Given the description of an element on the screen output the (x, y) to click on. 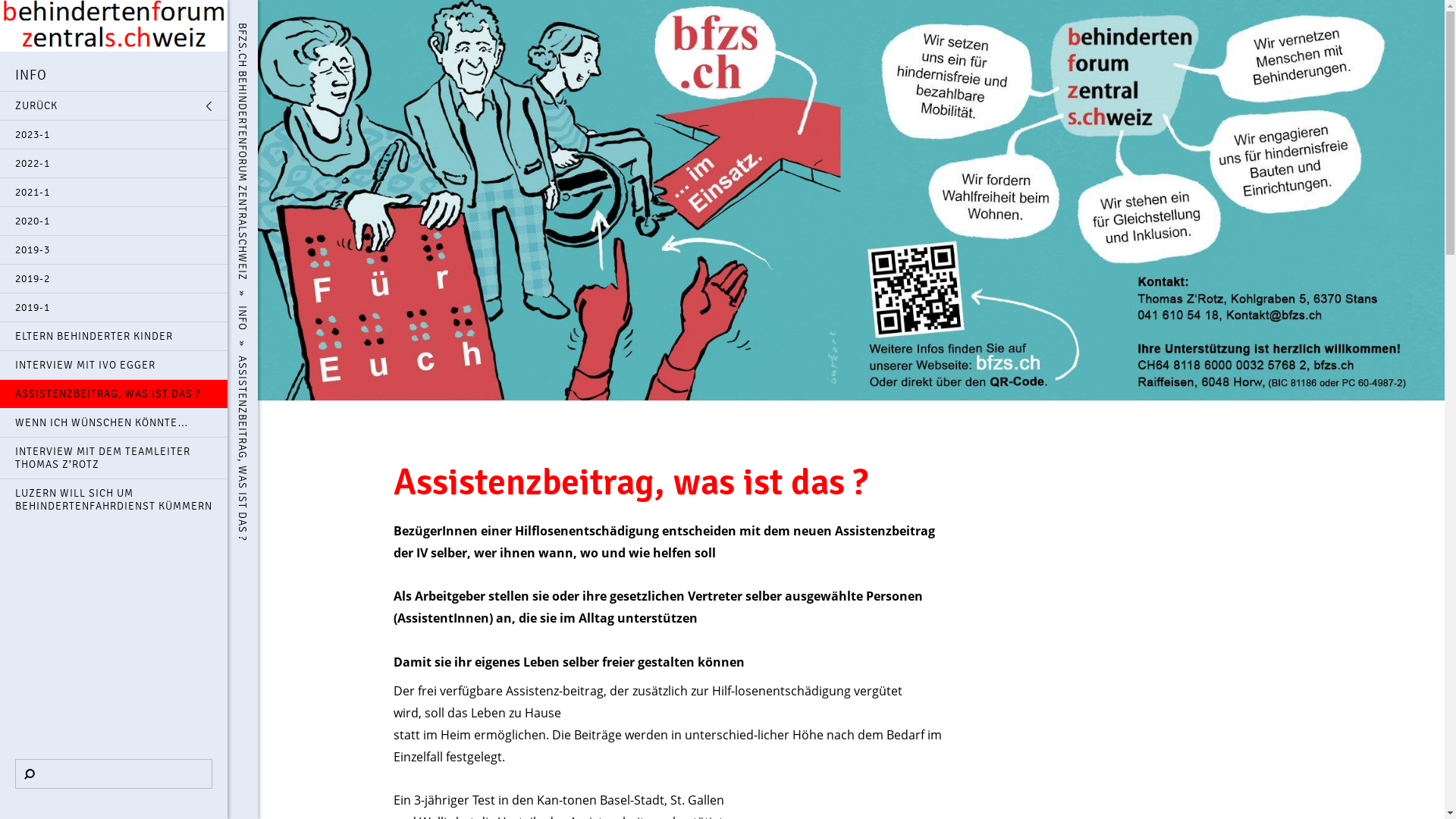
2023-1 Element type: text (113, 134)
INTERVIEW MIT IVO EGGER Element type: text (113, 365)
INFO Element type: text (113, 75)
ELTERN BEHINDERTER KINDER Element type: text (113, 336)
2019-2 Element type: text (113, 278)
2019-1 Element type: text (113, 307)
2019-3 Element type: text (113, 249)
2022-1 Element type: text (113, 163)
INFO Element type: text (255, 304)
ASSISTENZBEITRAG, WAS IST DAS ? Element type: text (335, 354)
2021-1 Element type: text (113, 192)
BFZS.CH BEHINDERTENFORUM ZENTRALSCHWEIZ Element type: text (371, 21)
2020-1 Element type: text (113, 221)
ASSISTENZBEITRAG, WAS IST DAS ? Element type: text (113, 393)
